Given the description of an element on the screen output the (x, y) to click on. 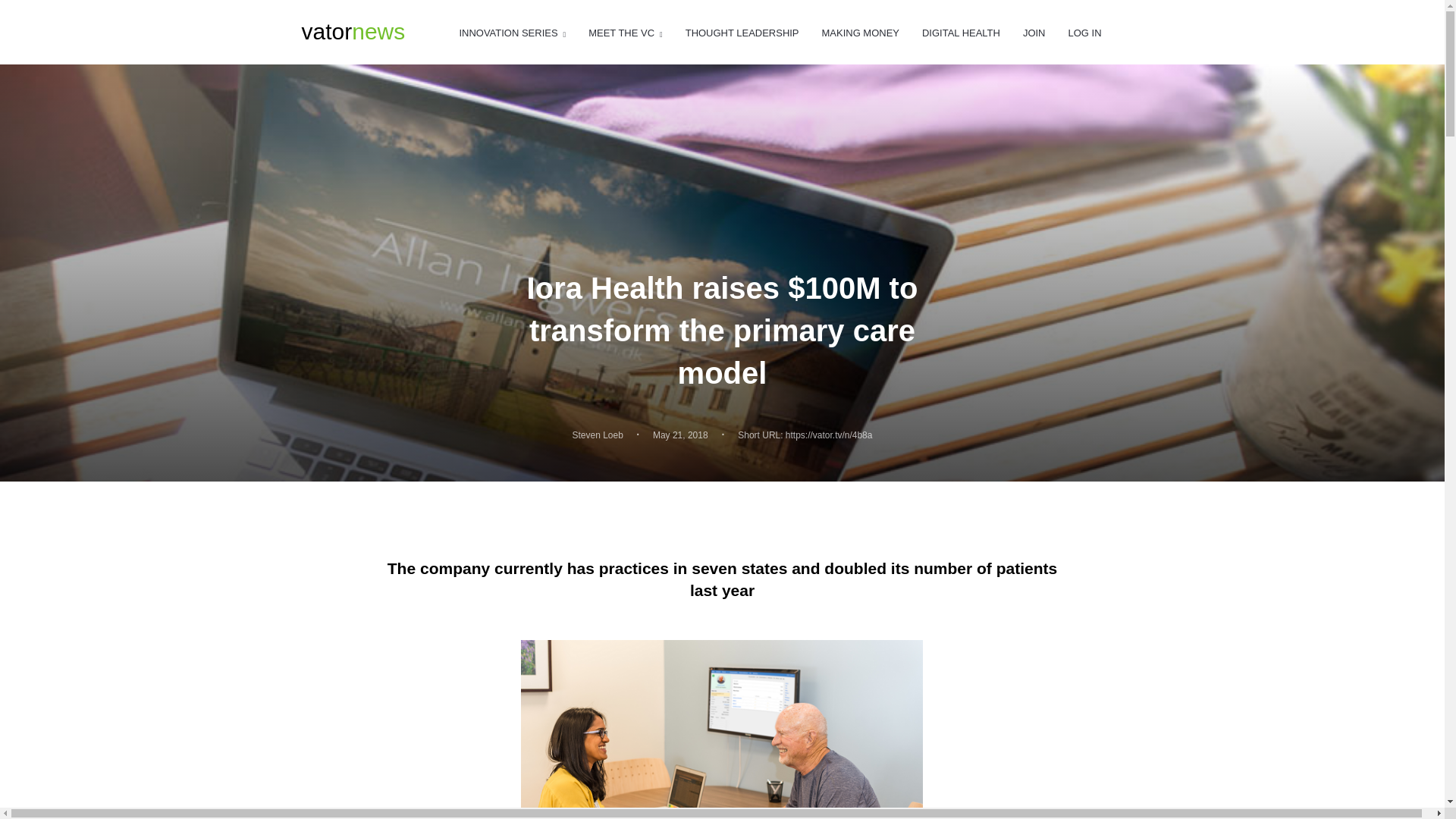
DIGITAL HEALTH (960, 33)
MEET THE VC (625, 33)
LOG IN (1083, 33)
MAKING MONEY (860, 33)
Steven Loeb (597, 434)
INNOVATION SERIES (353, 32)
THOUGHT LEADERSHIP (512, 33)
